Given the description of an element on the screen output the (x, y) to click on. 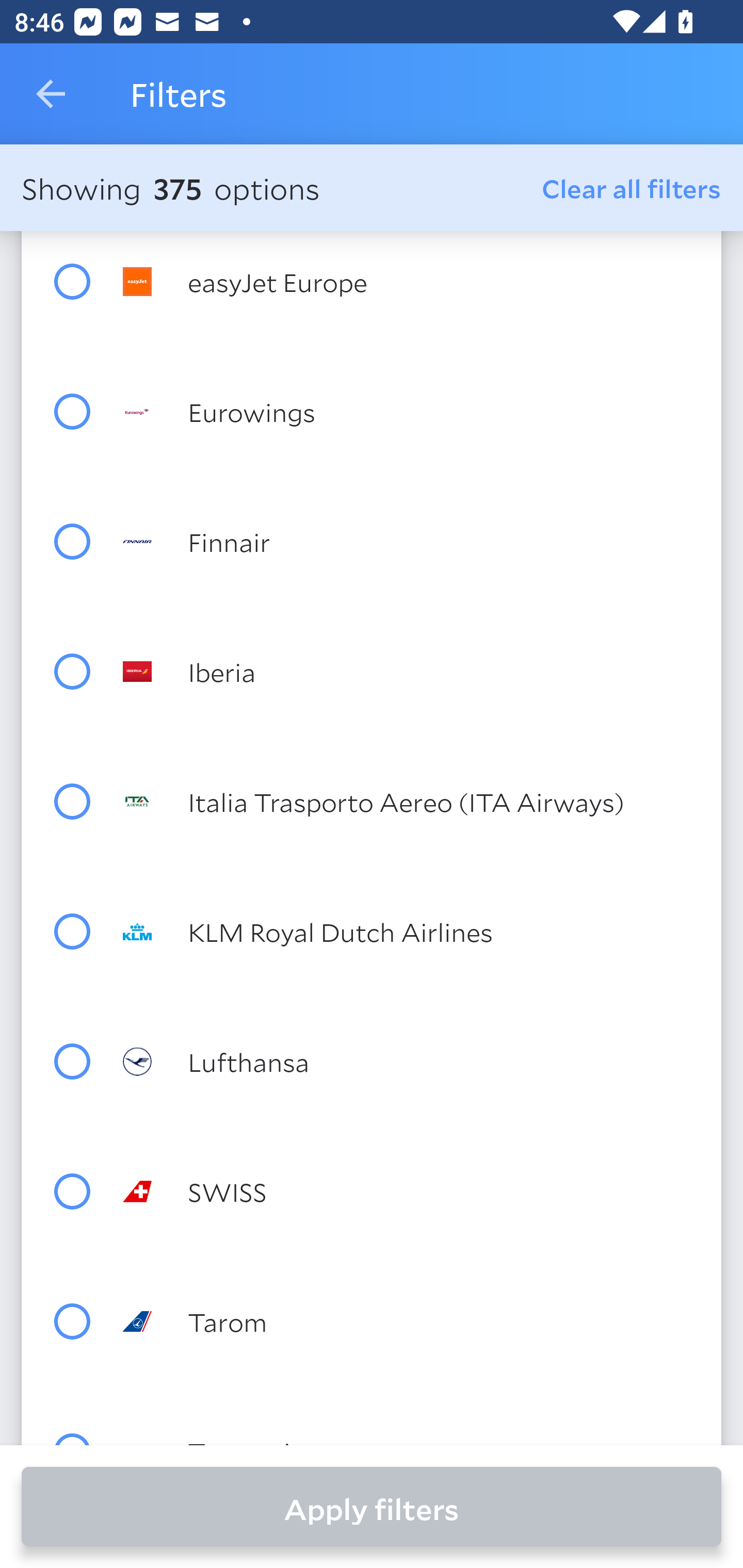
Navigate up (50, 93)
Clear all filters (631, 187)
easyJet Europe (407, 280)
Eurowings (407, 411)
Finnair (407, 541)
Iberia (407, 670)
Italia Trasporto Aereo (ITA Airways) (407, 801)
KLM Royal Dutch Airlines (407, 931)
Lufthansa (407, 1061)
SWISS (407, 1191)
Tarom (407, 1321)
Apply filters (371, 1506)
